Given the description of an element on the screen output the (x, y) to click on. 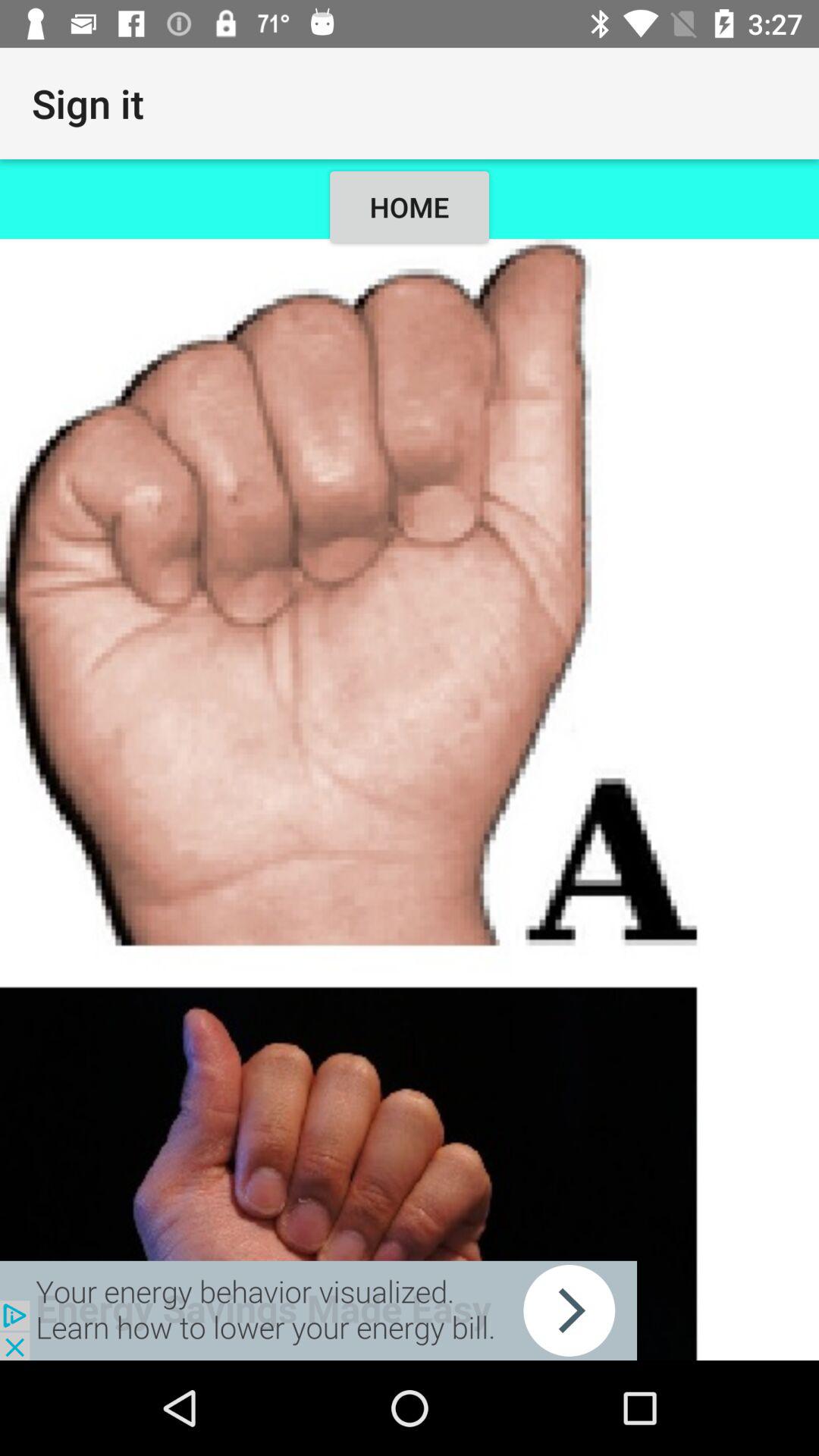
enter the home button (409, 799)
